Given the description of an element on the screen output the (x, y) to click on. 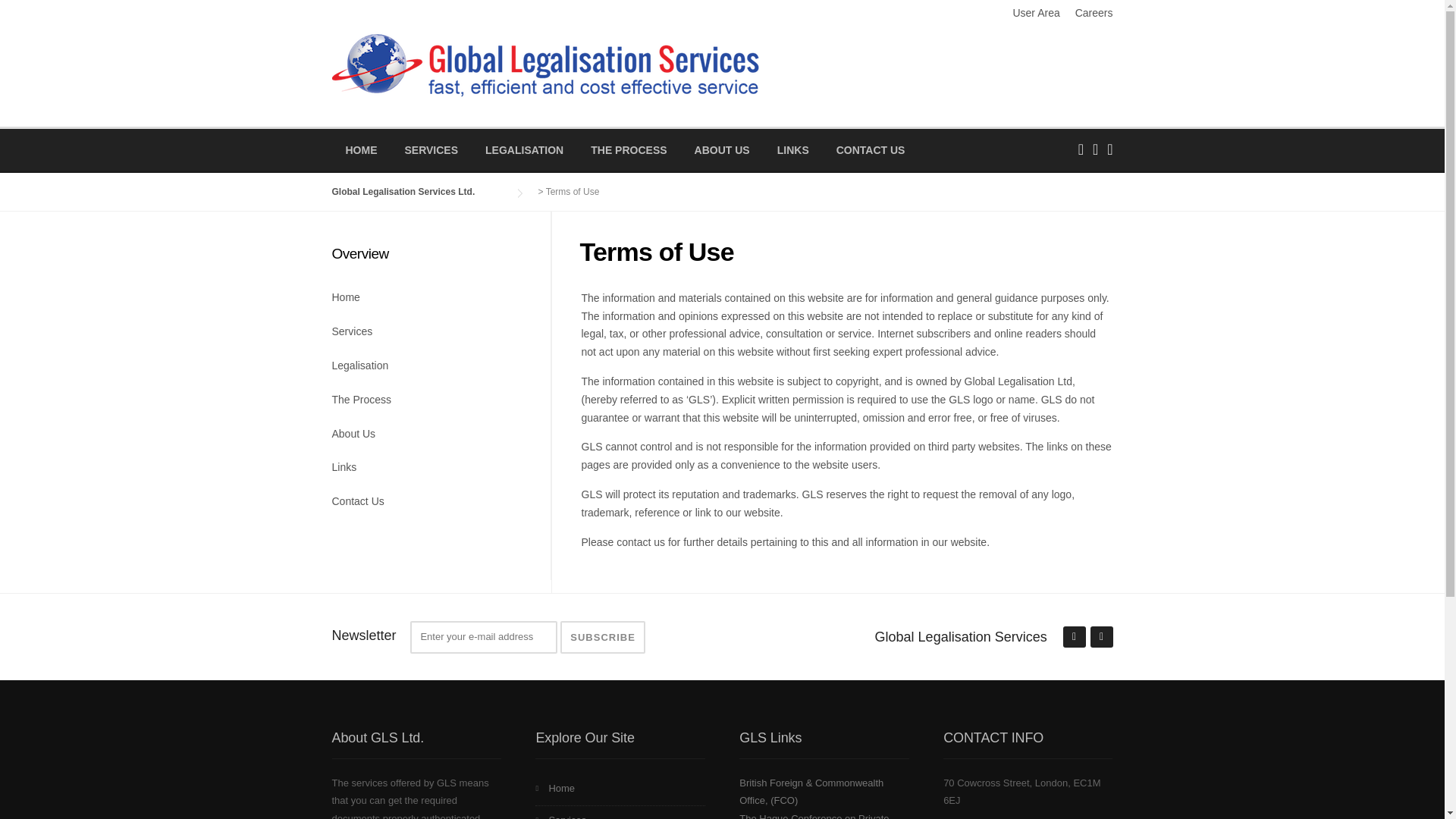
Skip to content (34, 9)
LEGALISATION (523, 150)
Home (426, 298)
ABOUT US (721, 150)
User Area (1028, 12)
Linkedin (1073, 637)
Subscribe (602, 636)
About Us (426, 434)
Global Legalisation Services Ltd. (544, 61)
Contact Us (426, 502)
SERVICES (431, 150)
Legalisation (426, 366)
LINKS (792, 150)
Go to Global Legalisation Services Ltd.. (418, 191)
Subscribe (602, 636)
